Given the description of an element on the screen output the (x, y) to click on. 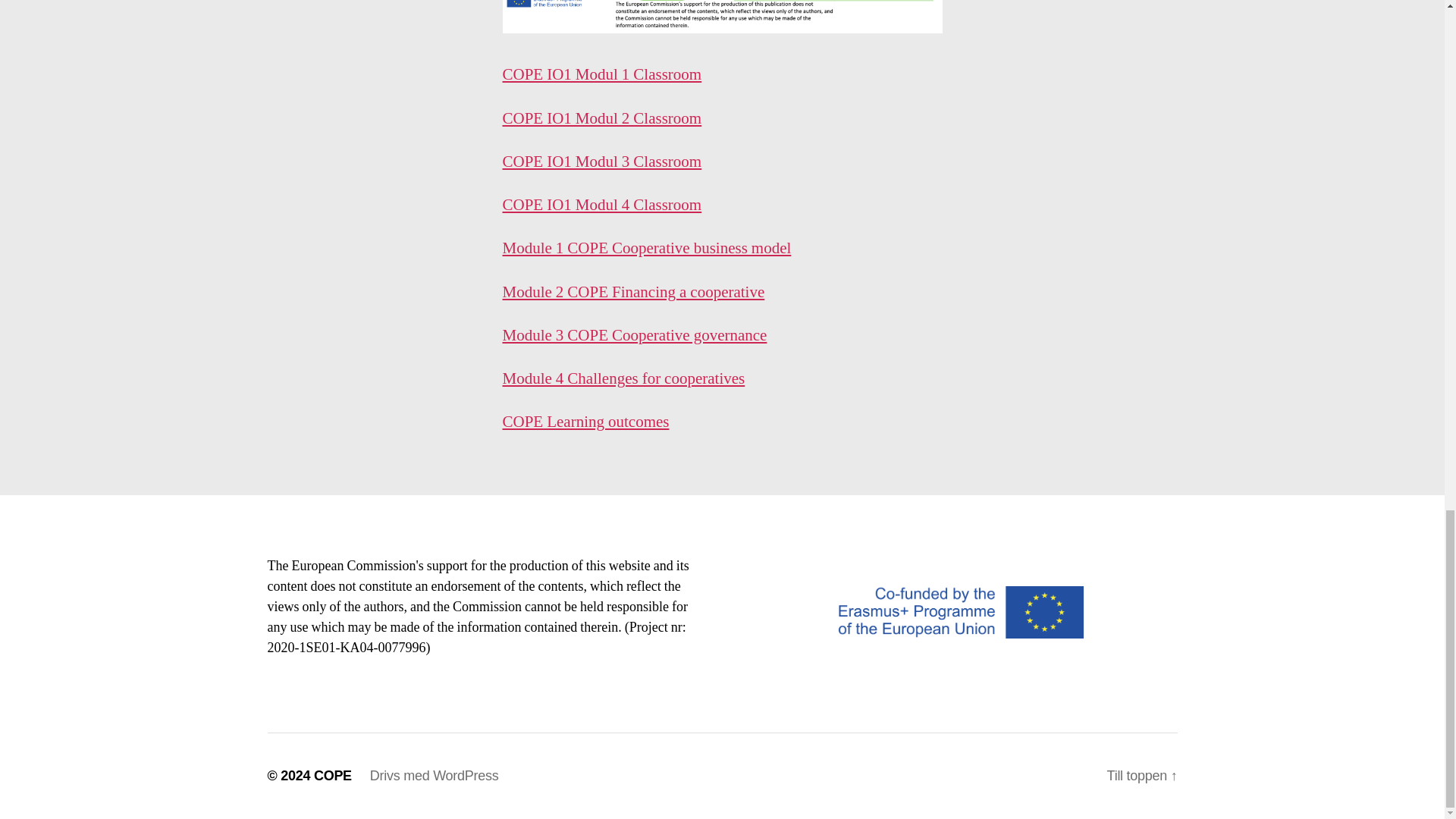
COPE (333, 775)
COPE Learning outcomes (585, 421)
Drivs med WordPress (434, 775)
Module 3 COPE Cooperative governance (634, 335)
Module 4 Challenges for cooperatives (623, 378)
COPE IO1 Modul 1 Classroom (601, 74)
Module 2 COPE Financing a cooperative (633, 291)
COPE IO1 Modul 4 Classroom (601, 204)
COPE IO1 Modul 2 Classroom (601, 118)
COPE IO1 Modul 3 Classroom (601, 161)
